Given the description of an element on the screen output the (x, y) to click on. 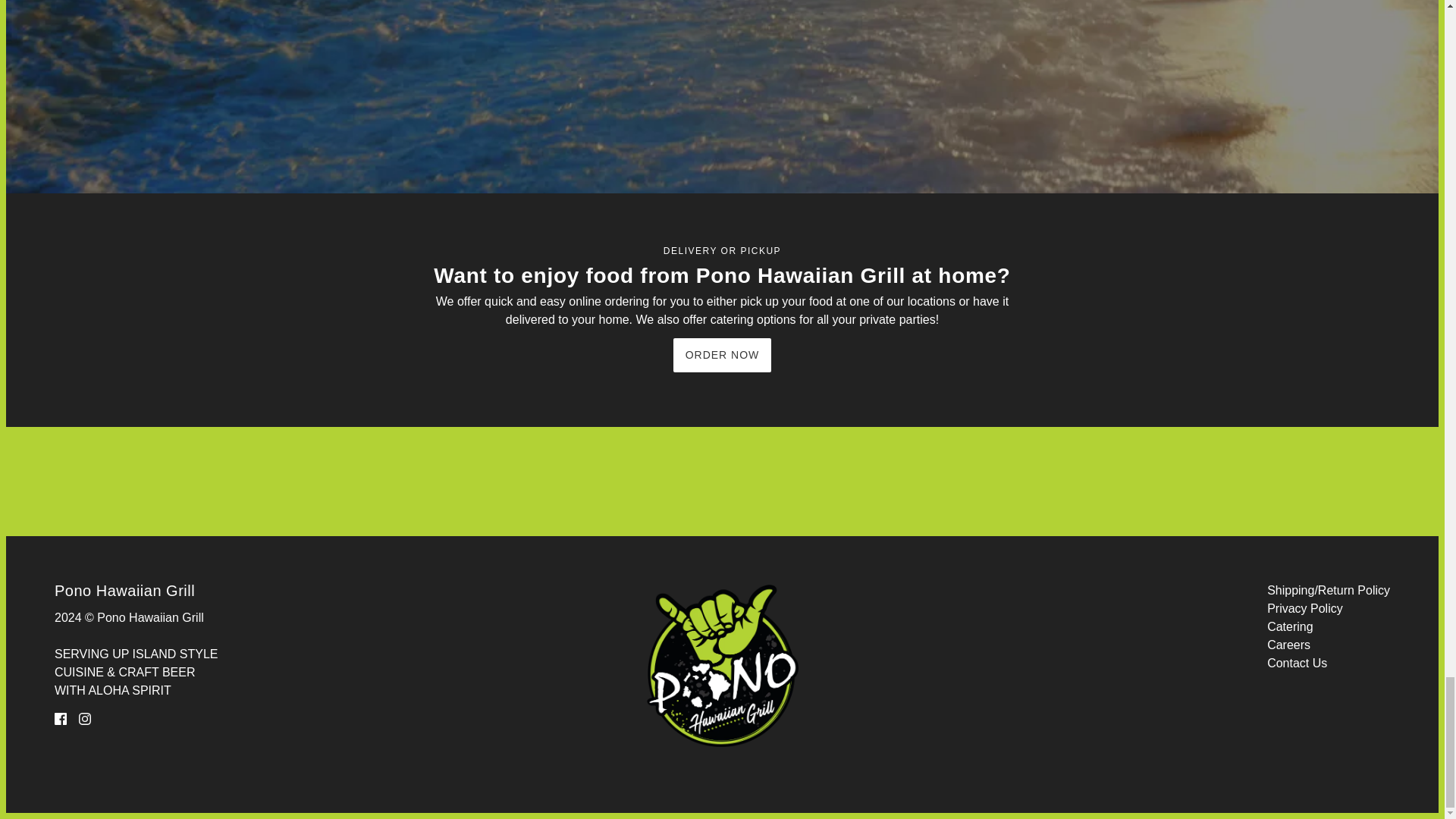
Contact Us (1296, 662)
Catering (1289, 626)
ORDER NOW (721, 355)
Careers (1288, 644)
Privacy Policy (1304, 608)
Careers (1288, 644)
Contact Us (1296, 662)
Catering (1289, 626)
Privacy Policy (1304, 608)
